Given the description of an element on the screen output the (x, y) to click on. 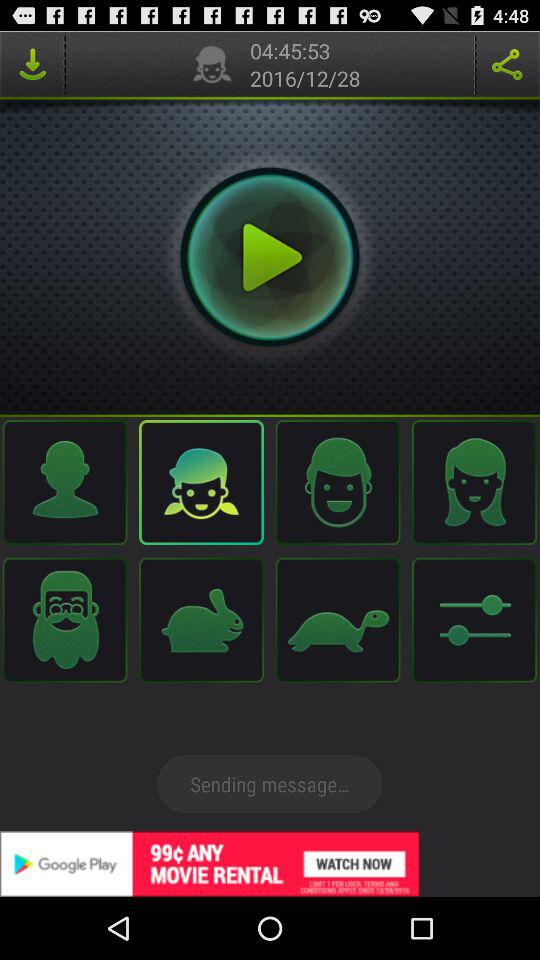
toggle play option (270, 257)
